Given the description of an element on the screen output the (x, y) to click on. 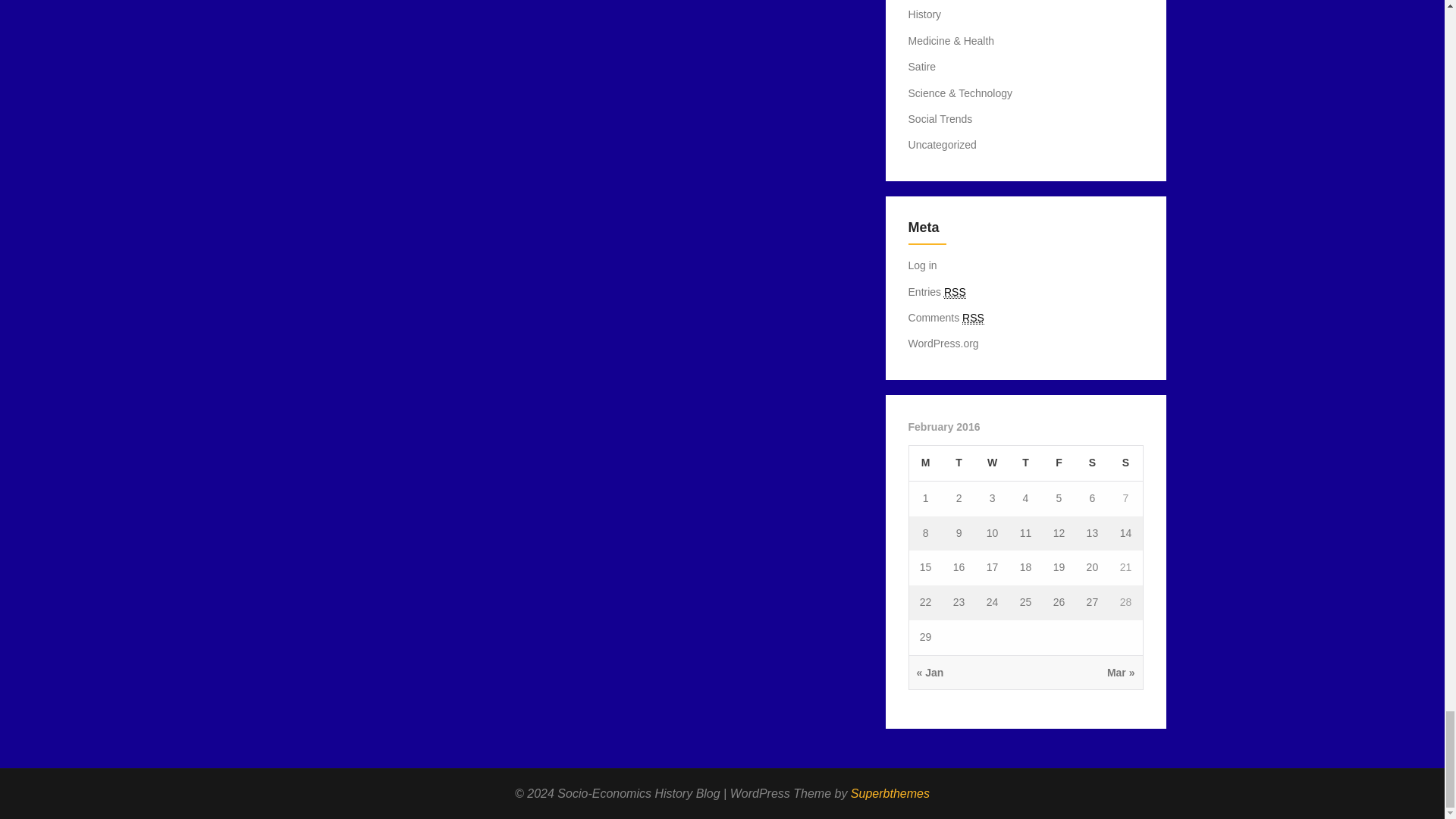
Really Simple Syndication (973, 318)
Thursday (1025, 462)
Saturday (1091, 462)
Monday (925, 462)
Sunday (1125, 462)
Friday (1058, 462)
Wednesday (992, 462)
Really Simple Syndication (954, 291)
Tuesday (958, 462)
